Given the description of an element on the screen output the (x, y) to click on. 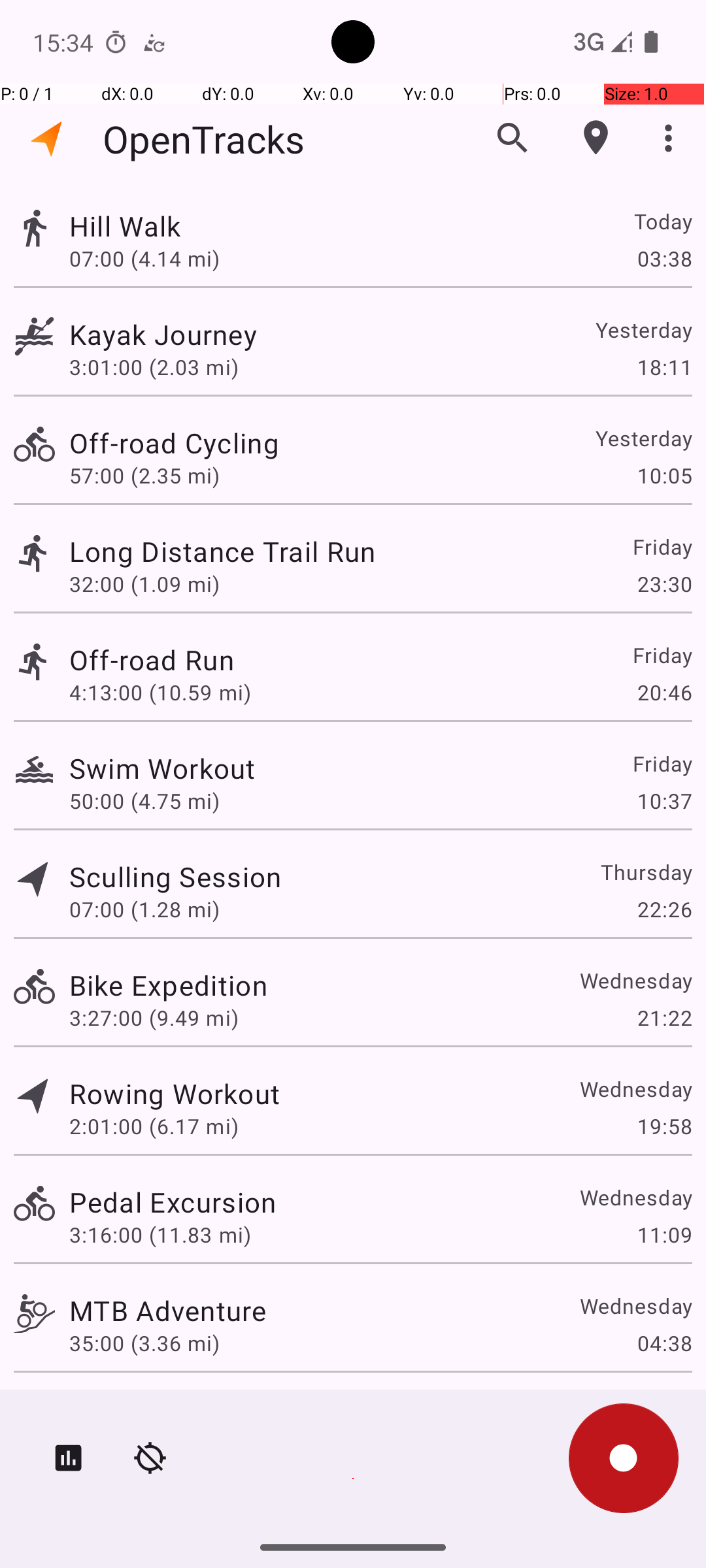
Hill Walk Element type: android.widget.TextView (124, 225)
07:00 (4.14 mi) Element type: android.widget.TextView (144, 258)
03:38 Element type: android.widget.TextView (664, 258)
Kayak Journey Element type: android.widget.TextView (162, 333)
3:01:00 (2.03 mi) Element type: android.widget.TextView (153, 366)
18:11 Element type: android.widget.TextView (664, 366)
Off-road Cycling Element type: android.widget.TextView (173, 442)
57:00 (2.35 mi) Element type: android.widget.TextView (144, 475)
10:05 Element type: android.widget.TextView (664, 475)
Long Distance Trail Run Element type: android.widget.TextView (221, 550)
32:00 (1.09 mi) Element type: android.widget.TextView (144, 583)
23:30 Element type: android.widget.TextView (664, 583)
Off-road Run Element type: android.widget.TextView (151, 659)
4:13:00 (10.59 mi) Element type: android.widget.TextView (159, 692)
20:46 Element type: android.widget.TextView (664, 692)
Swim Workout Element type: android.widget.TextView (162, 767)
50:00 (4.75 mi) Element type: android.widget.TextView (144, 800)
10:37 Element type: android.widget.TextView (664, 800)
Sculling Session Element type: android.widget.TextView (174, 876)
07:00 (1.28 mi) Element type: android.widget.TextView (144, 909)
22:26 Element type: android.widget.TextView (664, 909)
Bike Expedition Element type: android.widget.TextView (168, 984)
3:27:00 (9.49 mi) Element type: android.widget.TextView (153, 1017)
21:22 Element type: android.widget.TextView (664, 1017)
Rowing Workout Element type: android.widget.TextView (174, 1092)
2:01:00 (6.17 mi) Element type: android.widget.TextView (153, 1125)
19:58 Element type: android.widget.TextView (664, 1125)
Pedal Excursion Element type: android.widget.TextView (172, 1201)
3:16:00 (11.83 mi) Element type: android.widget.TextView (159, 1234)
11:09 Element type: android.widget.TextView (664, 1234)
MTB Adventure Element type: android.widget.TextView (167, 1309)
35:00 (3.36 mi) Element type: android.widget.TextView (144, 1342)
04:38 Element type: android.widget.TextView (664, 1342)
Trail Run Element type: android.widget.TextView (125, 1408)
